Given the description of an element on the screen output the (x, y) to click on. 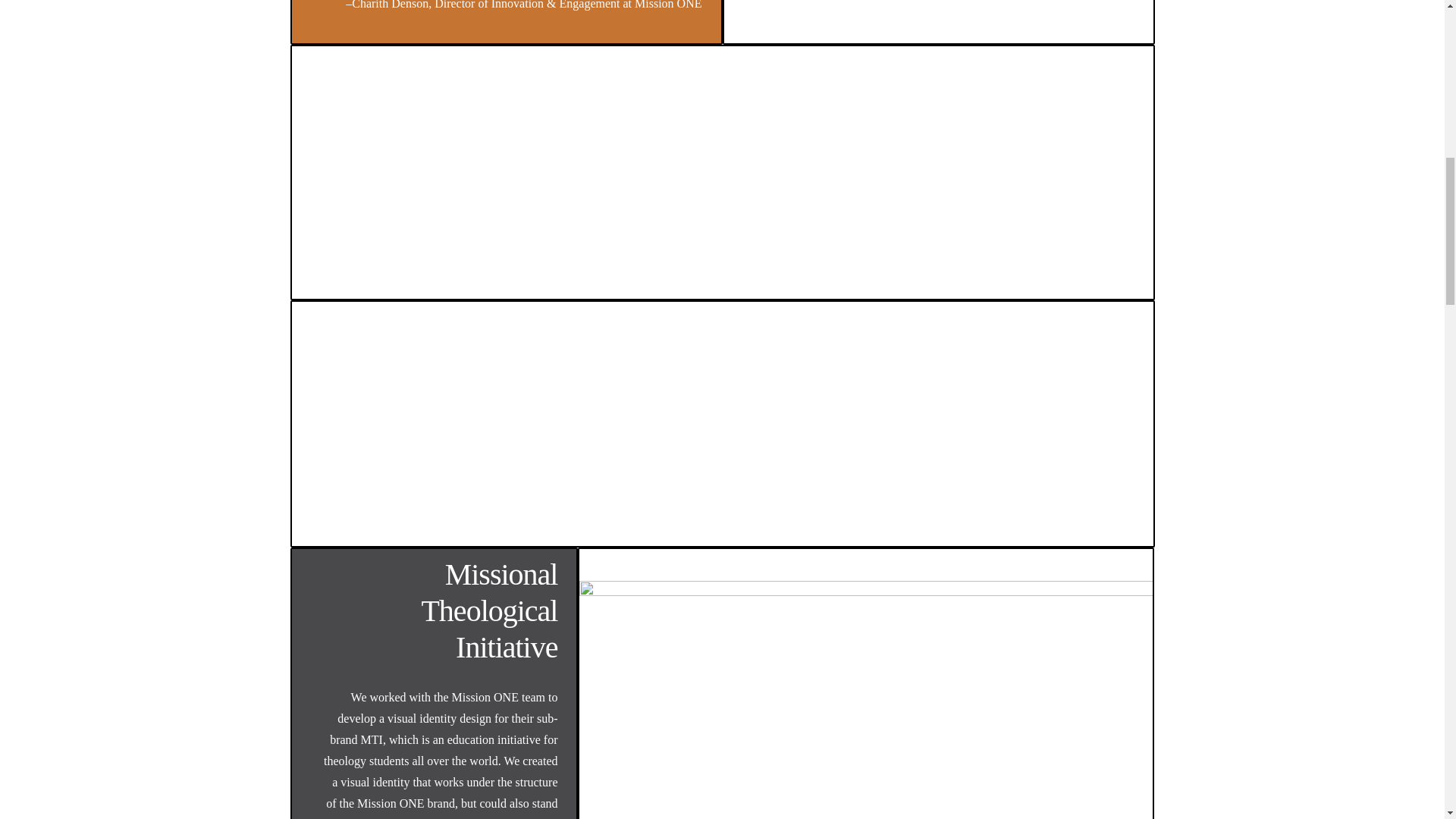
Charith - 2 (938, 2)
